Given the description of an element on the screen output the (x, y) to click on. 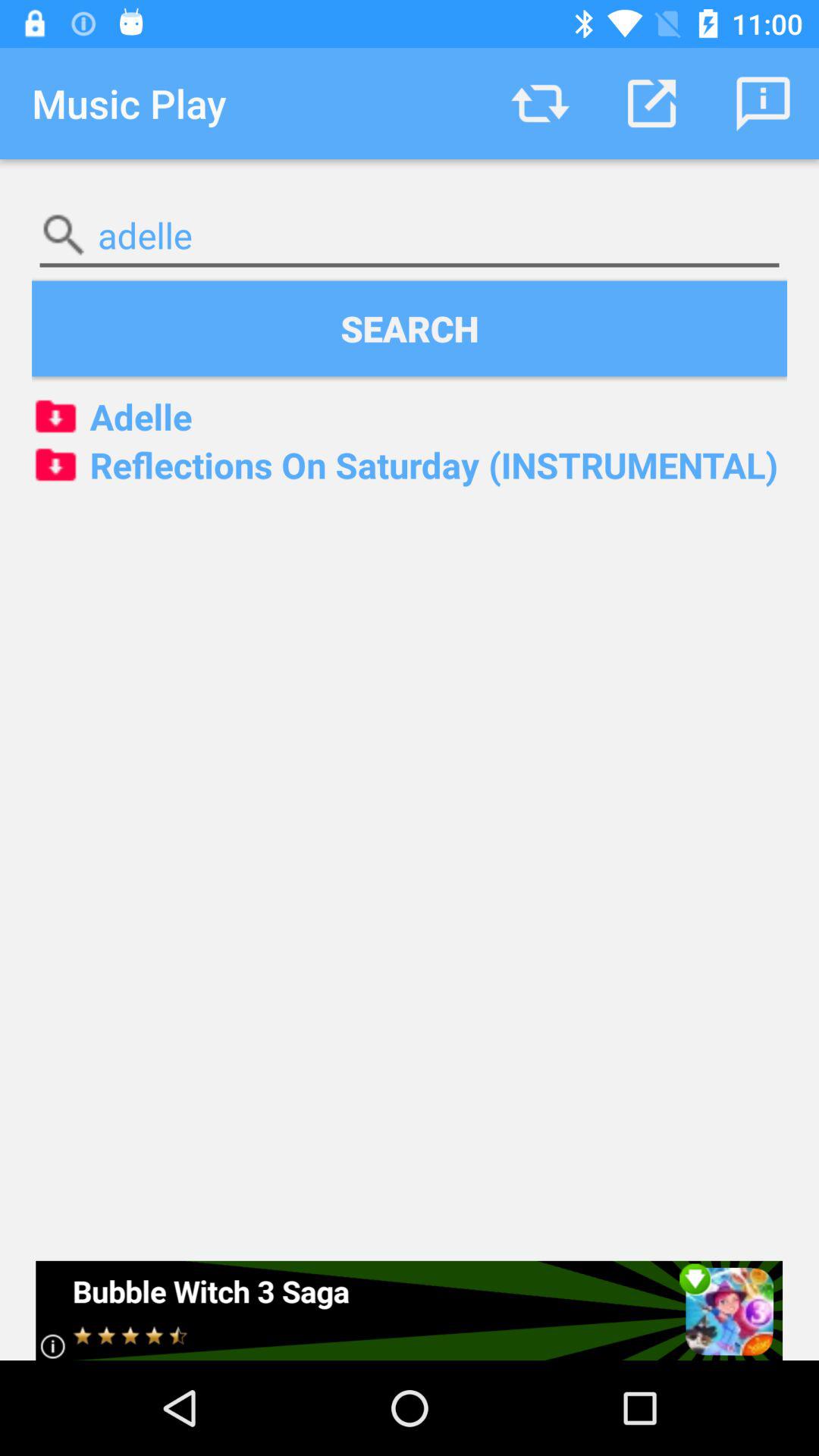
flip until the reflections on saturday (409, 464)
